Given the description of an element on the screen output the (x, y) to click on. 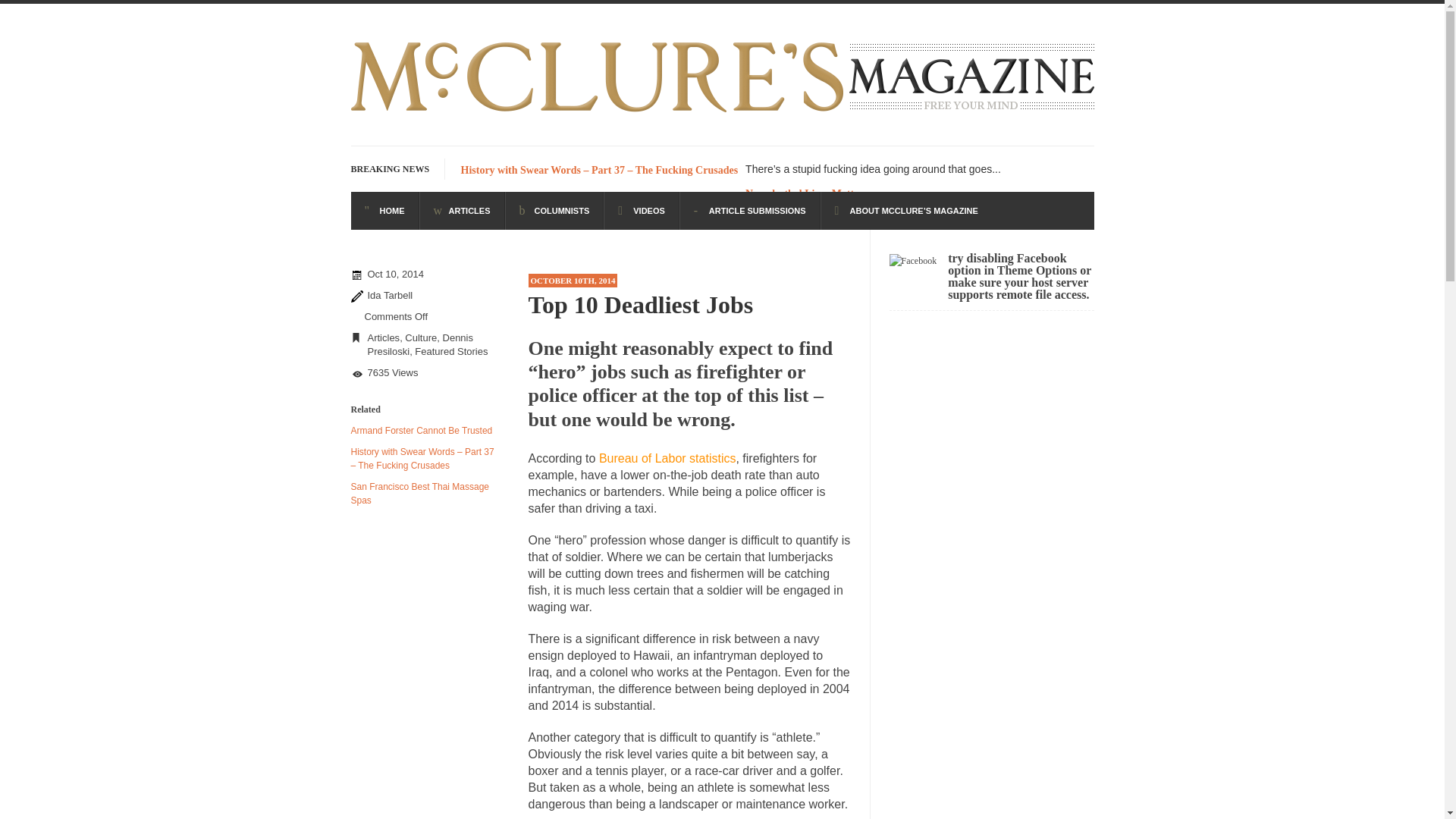
Armand Forster Cannot Be Trusted (421, 430)
McClure's Magazine (721, 114)
bureau of labor statistics (667, 458)
Neanderthal Lives Matter (804, 193)
San Francisco Best Thai Massage Spas (419, 493)
